Given the description of an element on the screen output the (x, y) to click on. 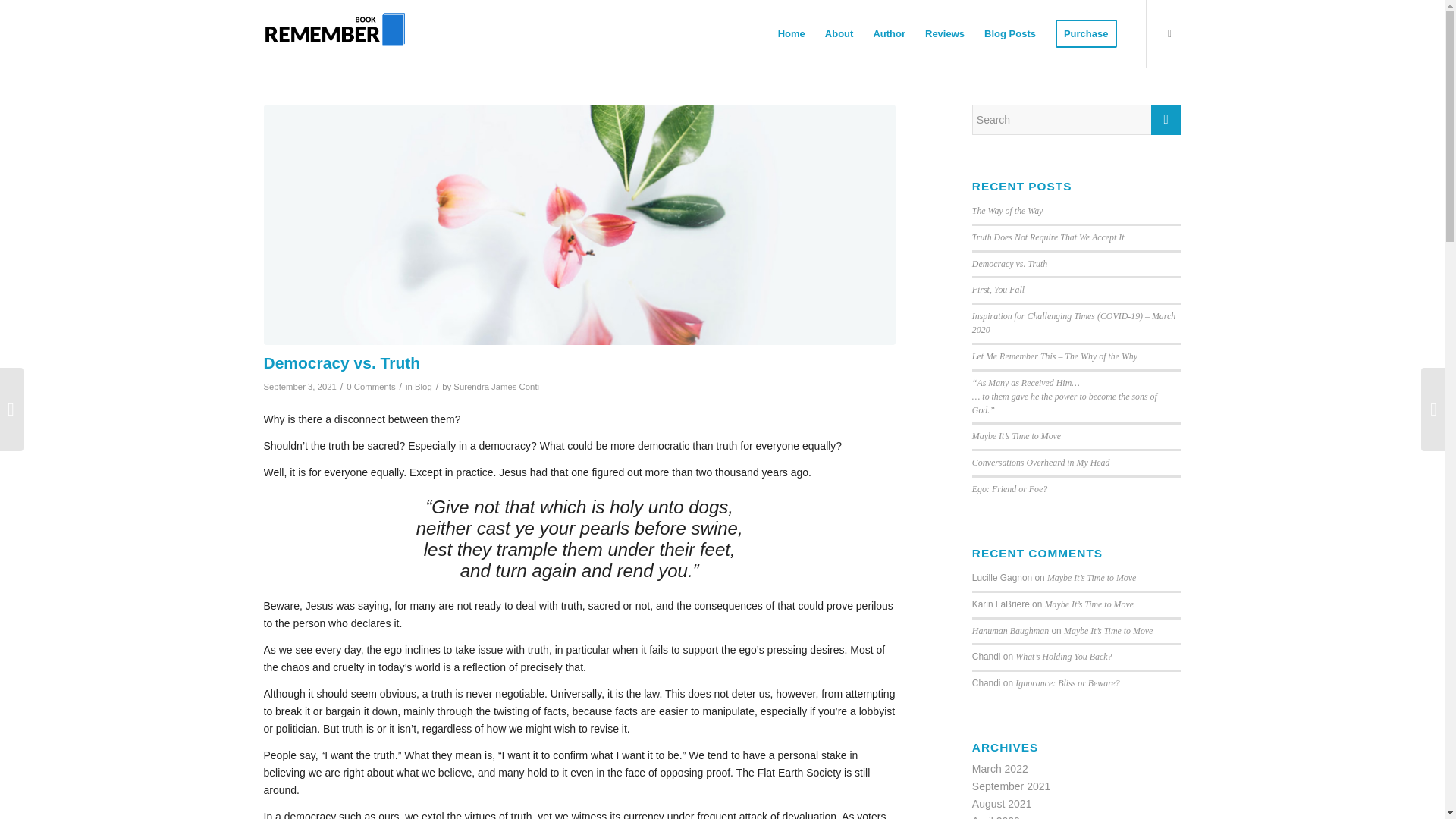
April 2020 (996, 816)
Conversations Overheard in My Head (1040, 462)
Ignorance: Bliss or Beware? (1066, 683)
March 2022 (999, 768)
First, You Fall (998, 289)
Ego: Friend or Foe? (1009, 489)
Blog (423, 386)
Hanuman Baughman (1010, 630)
Blog Posts (1009, 33)
Purchase (1085, 33)
